Given the description of an element on the screen output the (x, y) to click on. 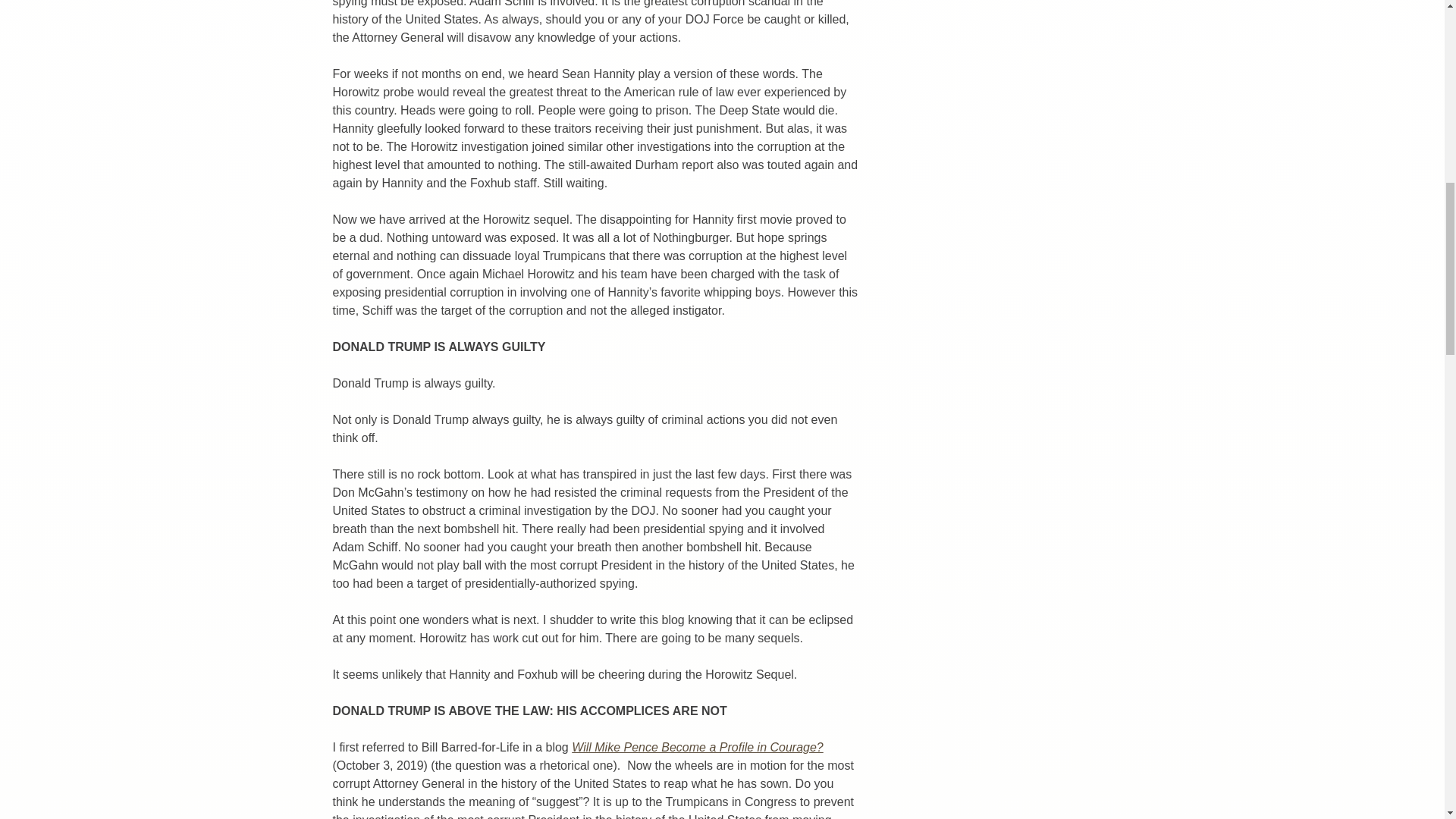
Will Mike Pence Become a Profile in Courage? (698, 747)
